Given the description of an element on the screen output the (x, y) to click on. 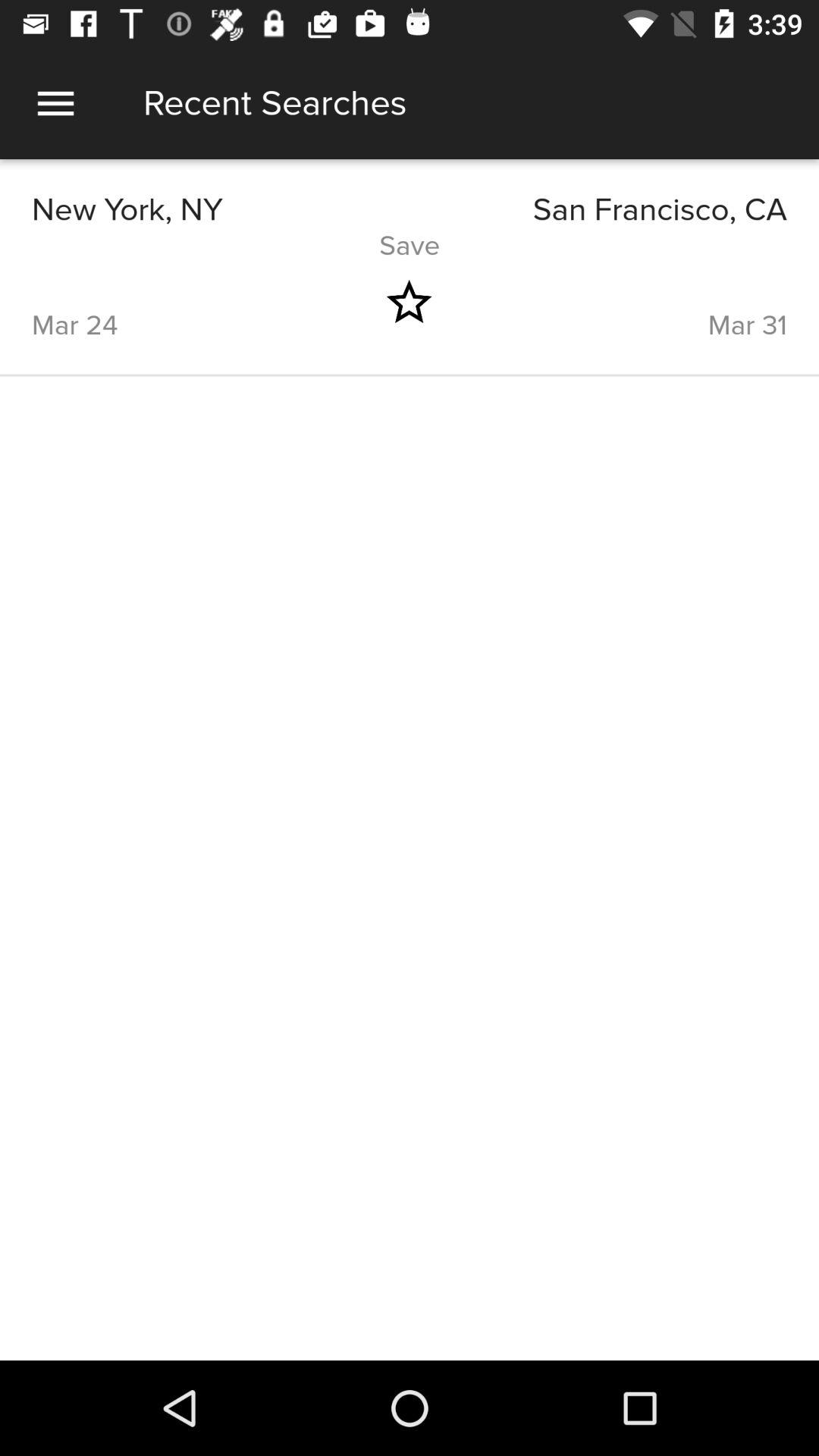
click the item above save icon (598, 210)
